Given the description of an element on the screen output the (x, y) to click on. 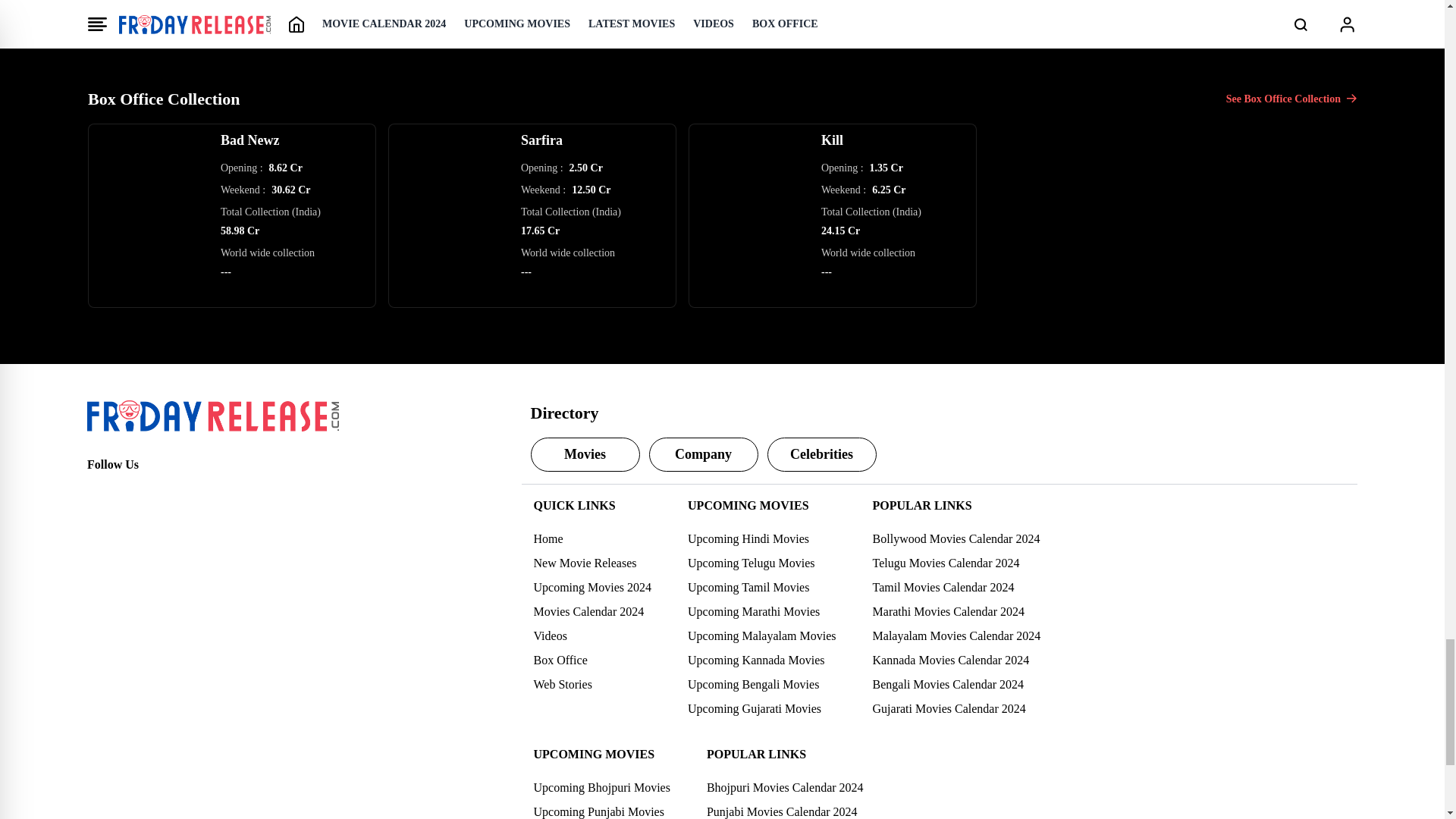
Twitter Page (132, 491)
Instagram Page (165, 491)
Youtube Page (199, 491)
Facebook Page (99, 491)
